Given the description of an element on the screen output the (x, y) to click on. 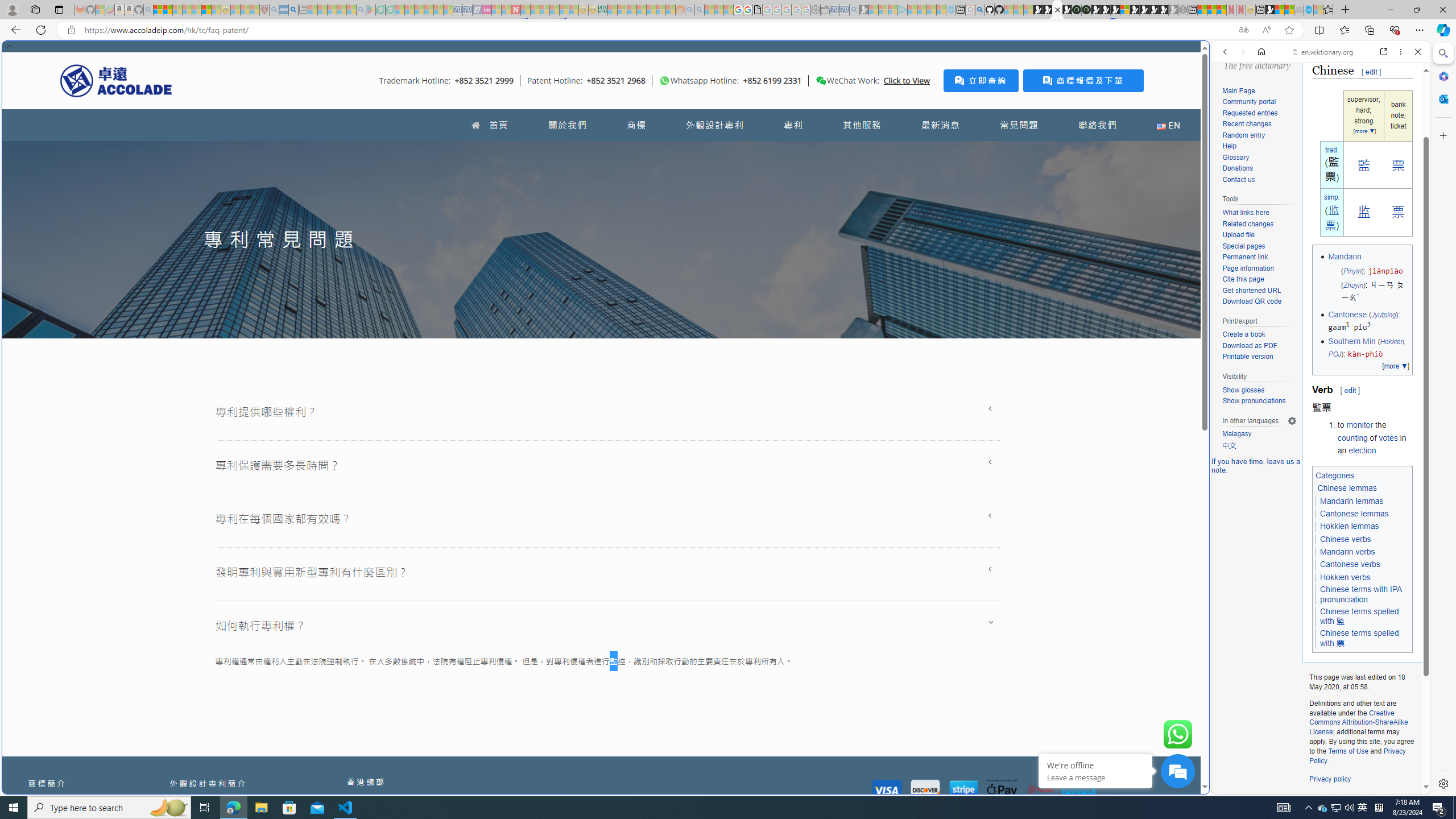
Disclaimers (1385, 799)
SEARCH TOOLS (1350, 130)
Permanent link (1259, 257)
Show glosses (1243, 389)
Download QR code (1259, 301)
Play Cave FRVR in your browser | Games from Microsoft Start (1105, 9)
